Given the description of an element on the screen output the (x, y) to click on. 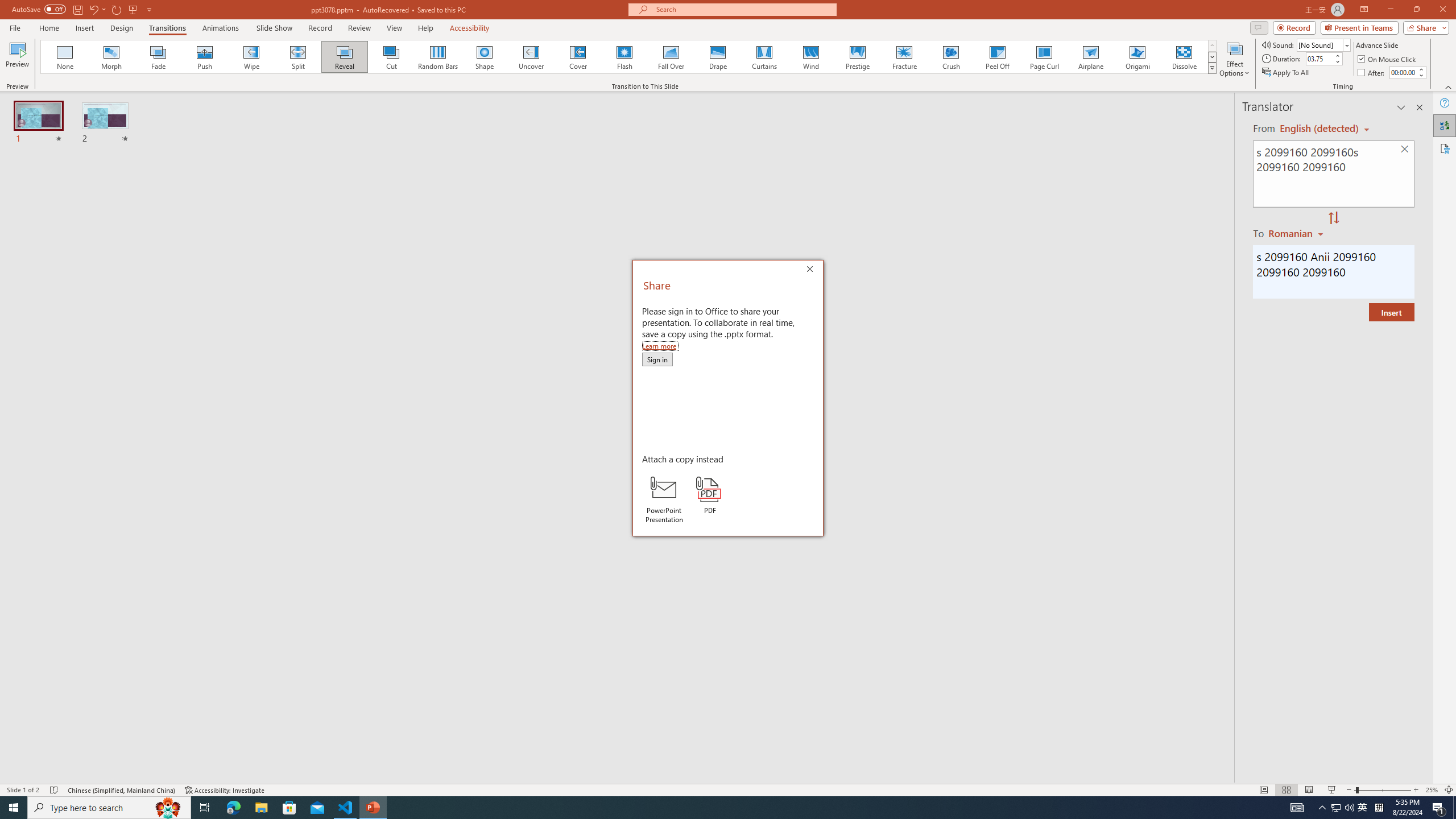
Origami (1136, 56)
PowerPoint Presentation (663, 499)
Dissolve (1183, 56)
AutomationID: AnimationTransitionGallery (628, 56)
